Given the description of an element on the screen output the (x, y) to click on. 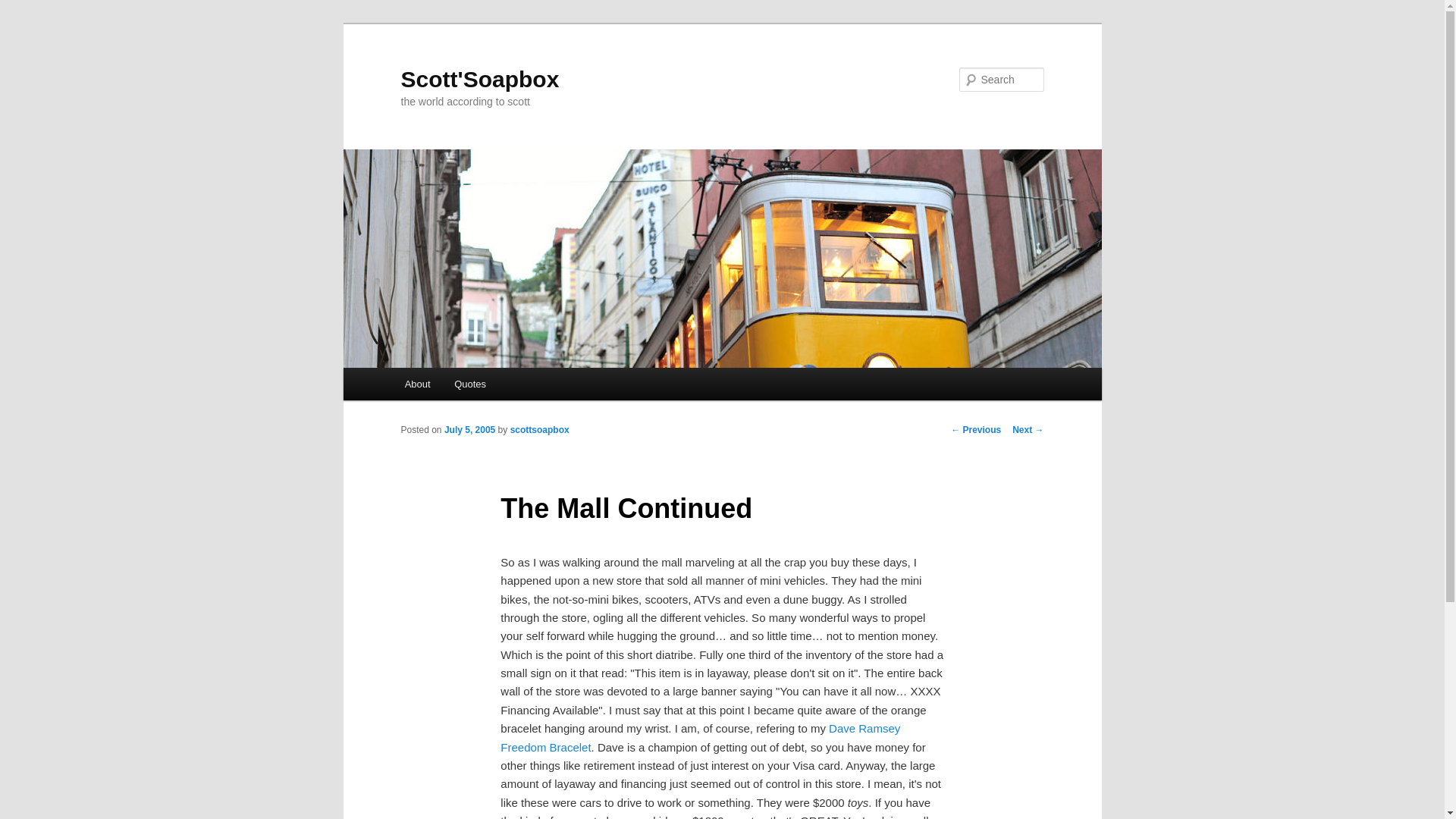
Dave Ramsey Freedom Bracelet (699, 736)
View all posts by scottsoapbox (540, 429)
Quotes (469, 383)
July 5, 2005 (469, 429)
Search (24, 8)
About (417, 383)
Scott'Soapbox (479, 78)
scottsoapbox (540, 429)
